Given the description of an element on the screen output the (x, y) to click on. 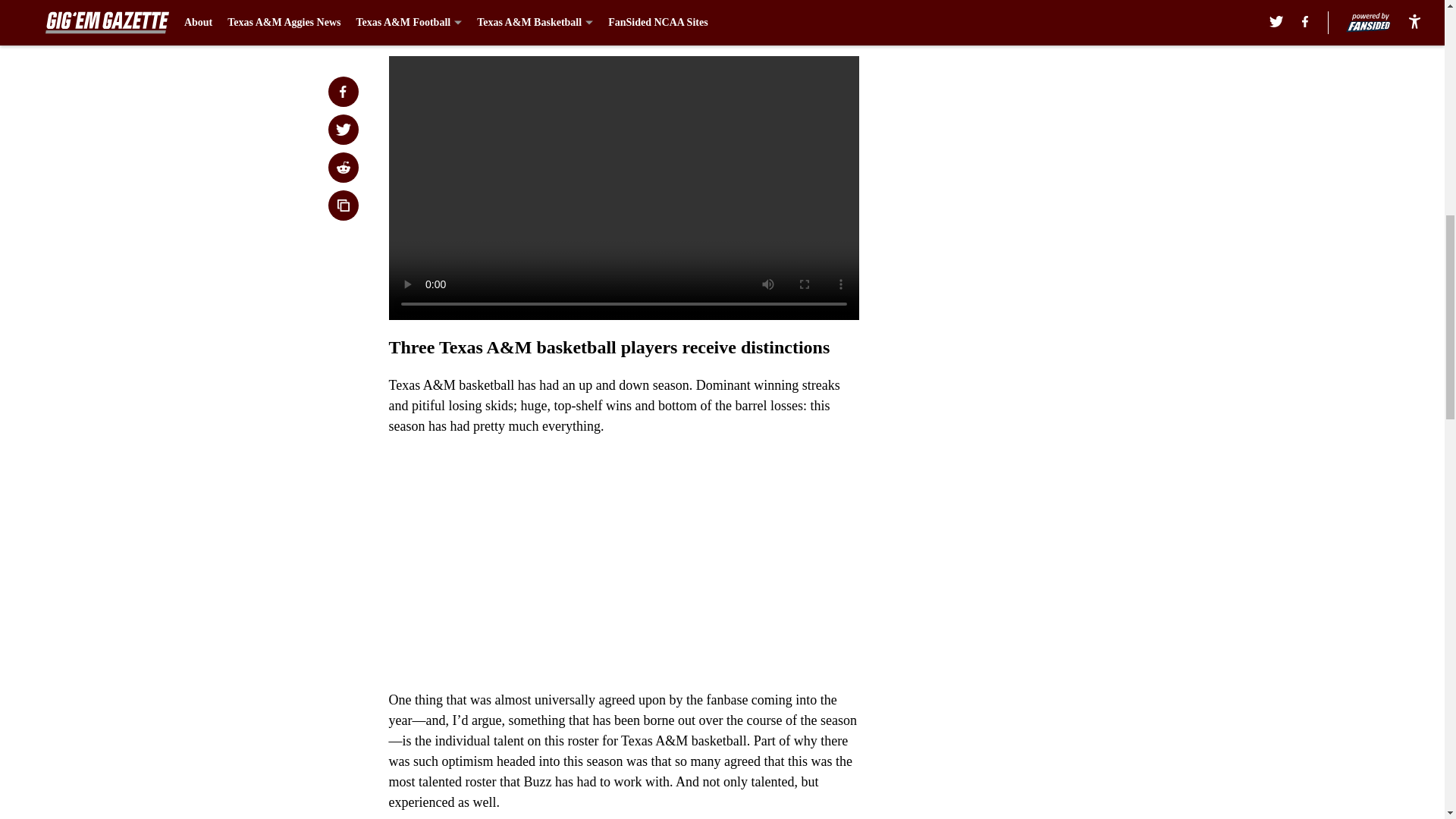
3rd party ad content (1047, 150)
3rd party ad content (1047, 371)
